Given the description of an element on the screen output the (x, y) to click on. 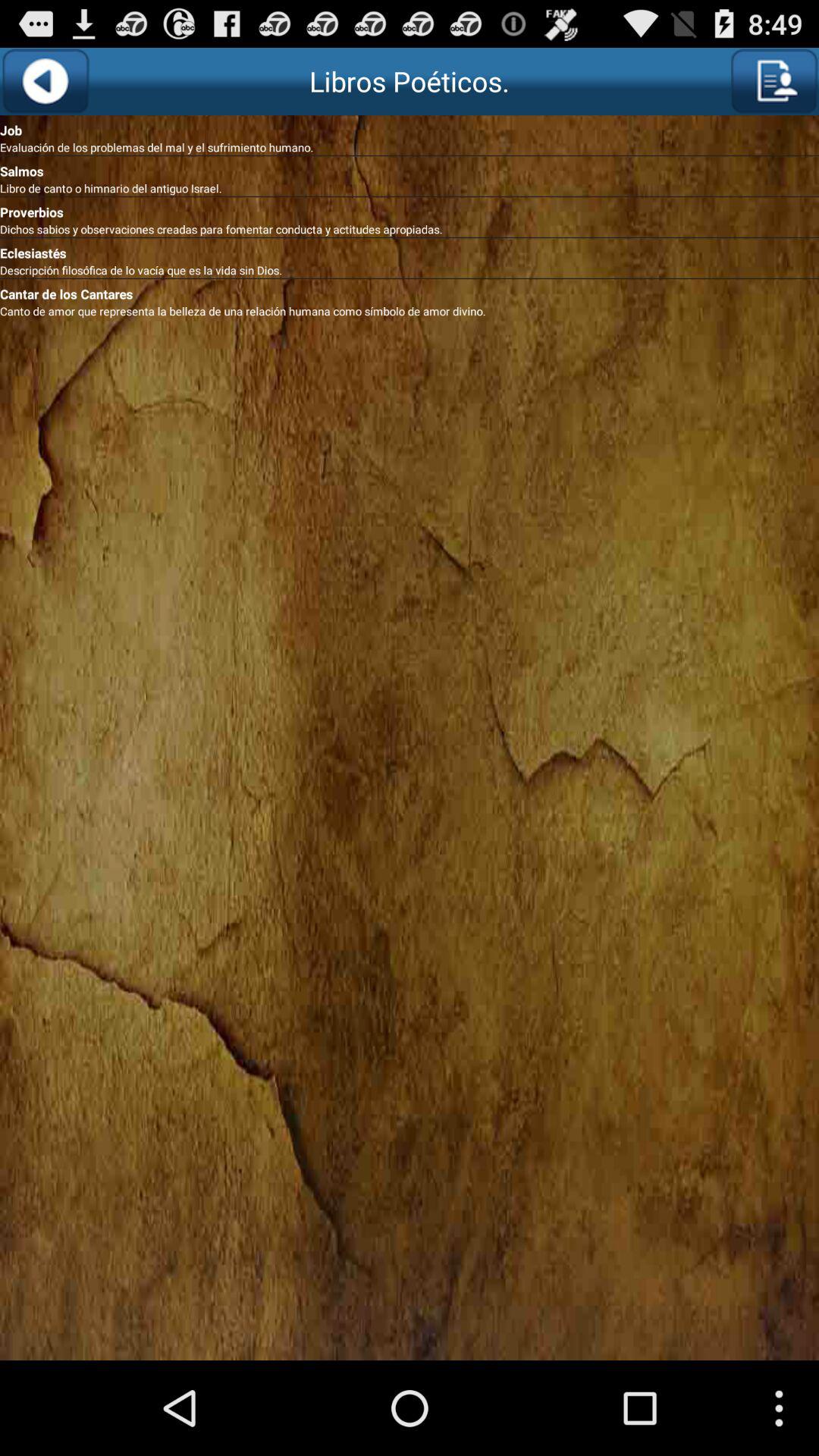
swipe until the salmos item (409, 168)
